Given the description of an element on the screen output the (x, y) to click on. 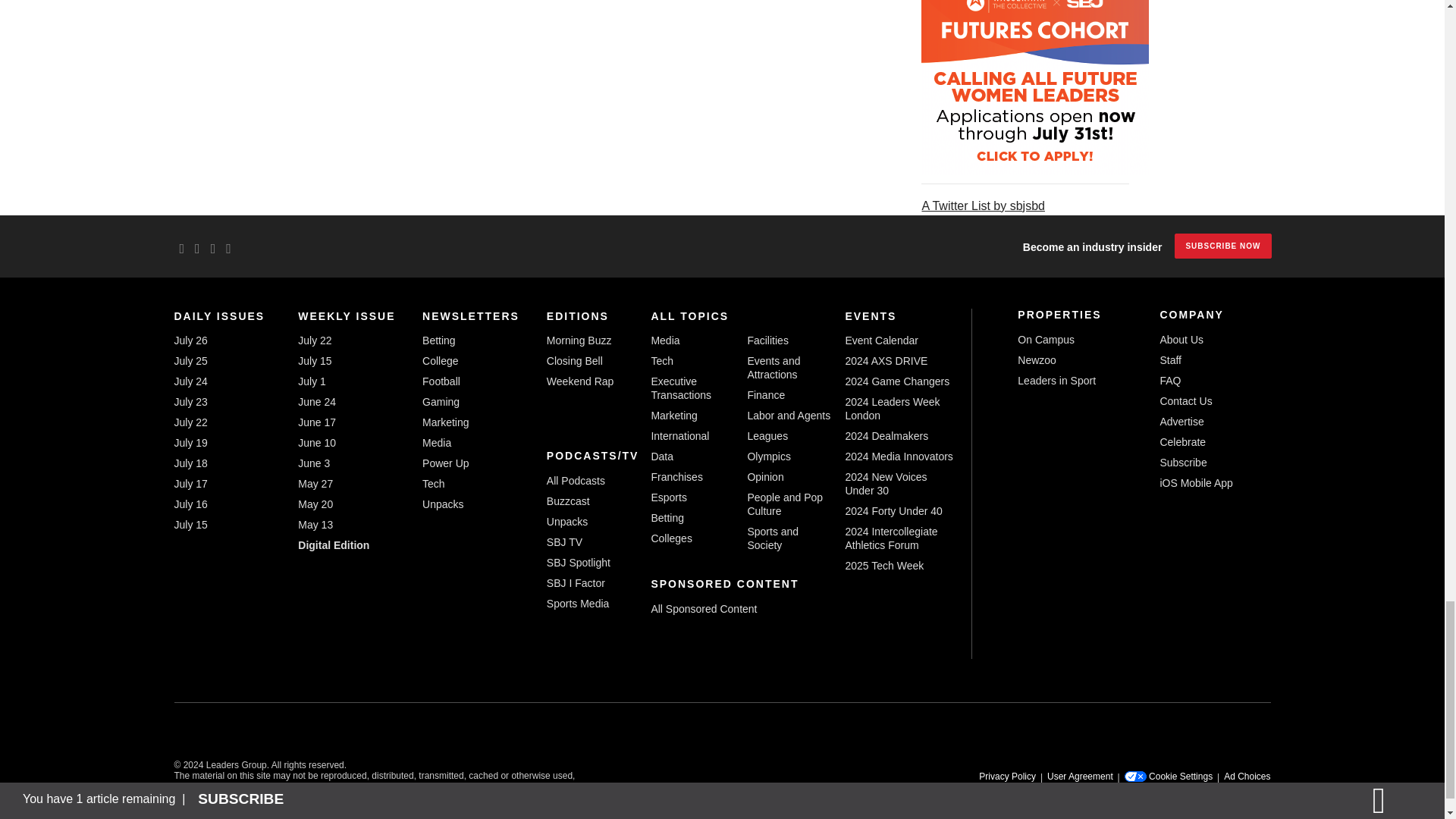
3rd party ad content (1034, 87)
